Given the description of an element on the screen output the (x, y) to click on. 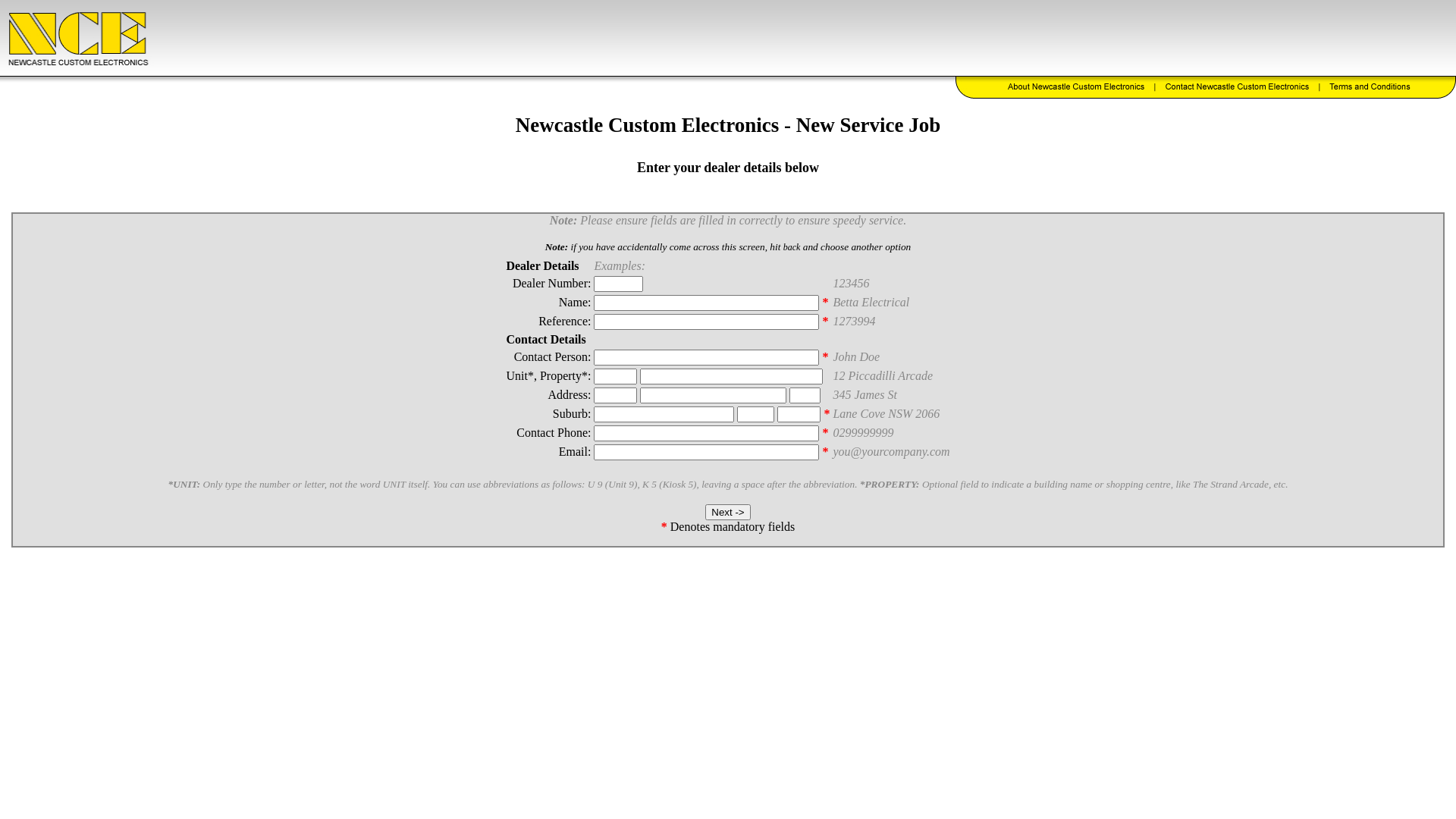
Next -> Element type: text (727, 512)
back Element type: text (791, 246)
